Given the description of an element on the screen output the (x, y) to click on. 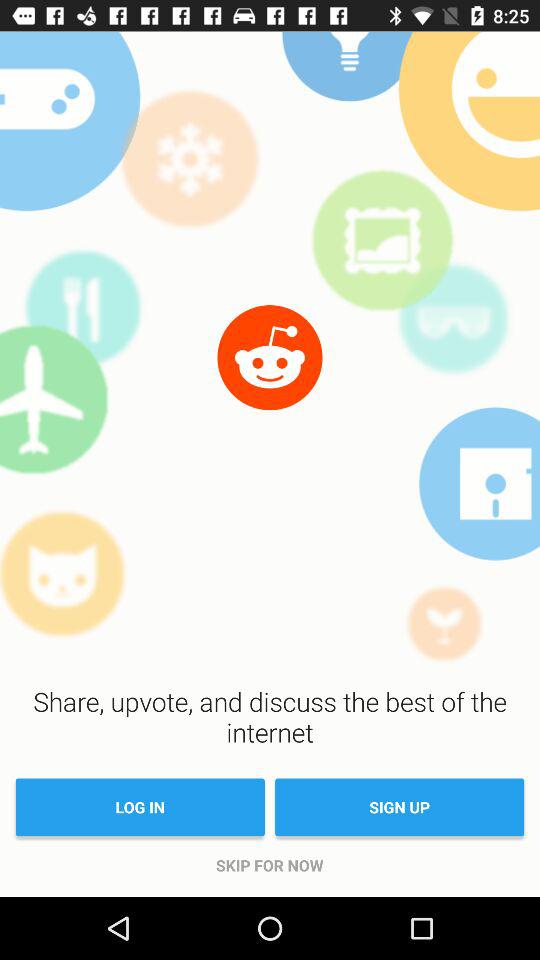
launch the item above the skip for now item (399, 807)
